Given the description of an element on the screen output the (x, y) to click on. 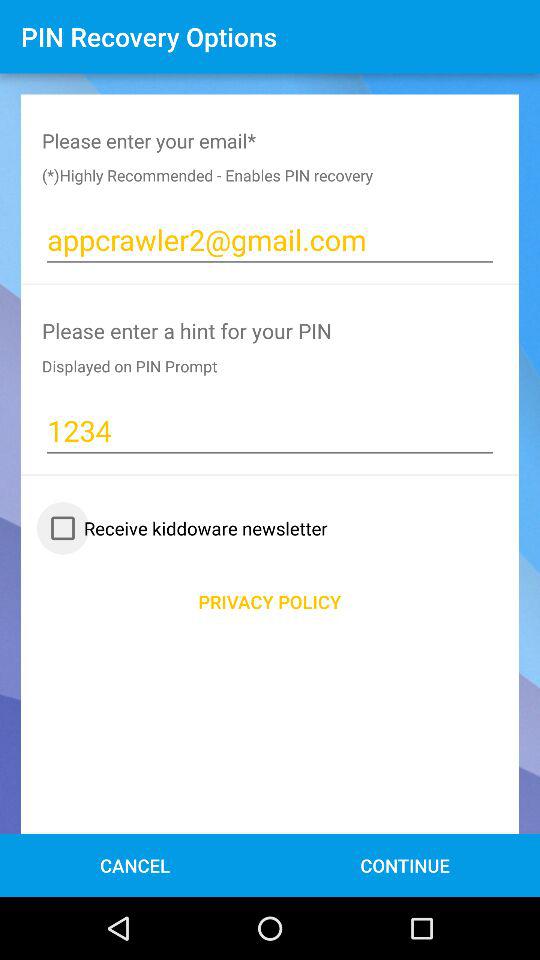
scroll to the receive kiddoware newsletter item (184, 528)
